Given the description of an element on the screen output the (x, y) to click on. 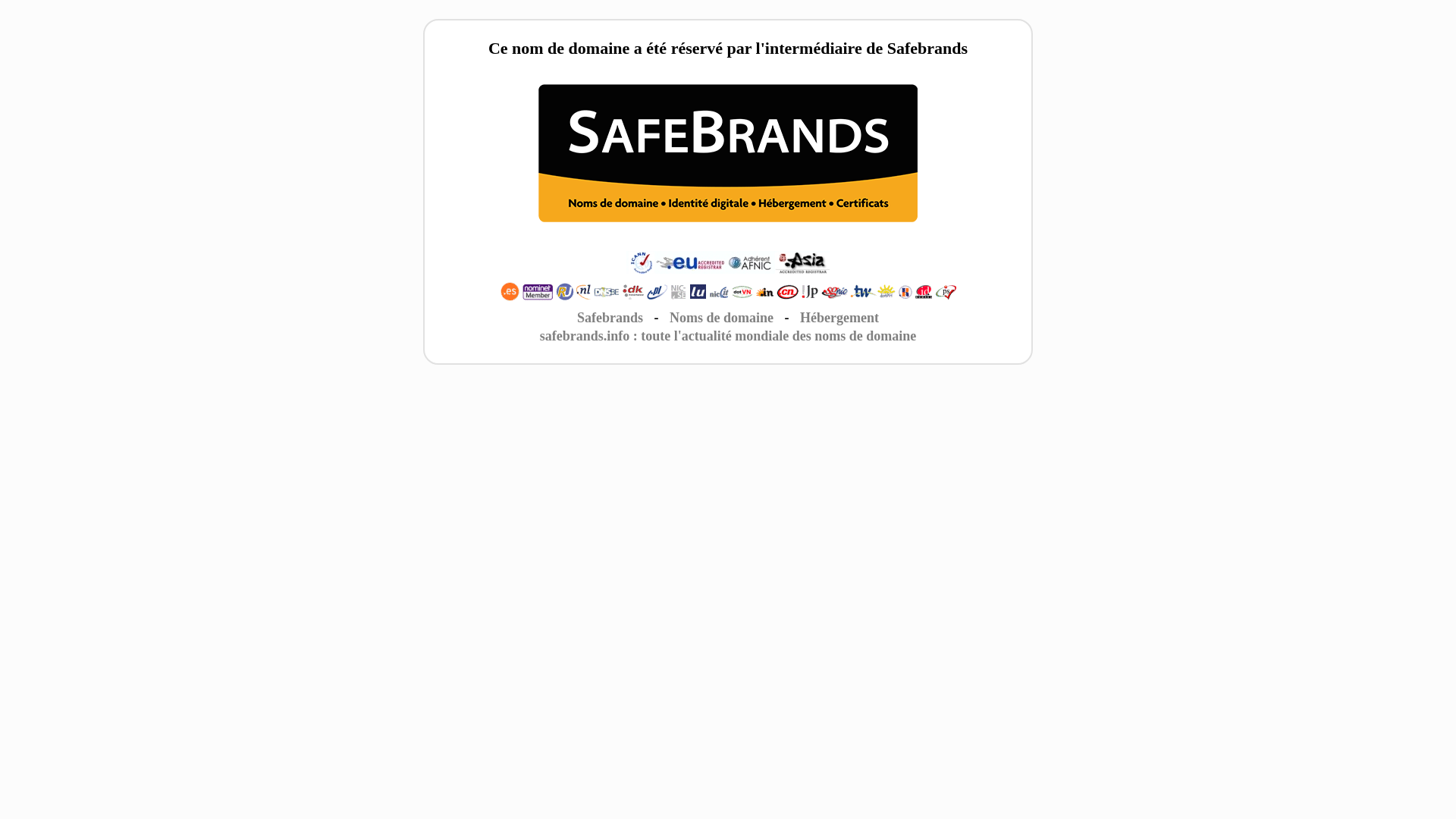
Noms de domaine Element type: text (721, 317)
Safebrands Element type: text (610, 317)
